Given the description of an element on the screen output the (x, y) to click on. 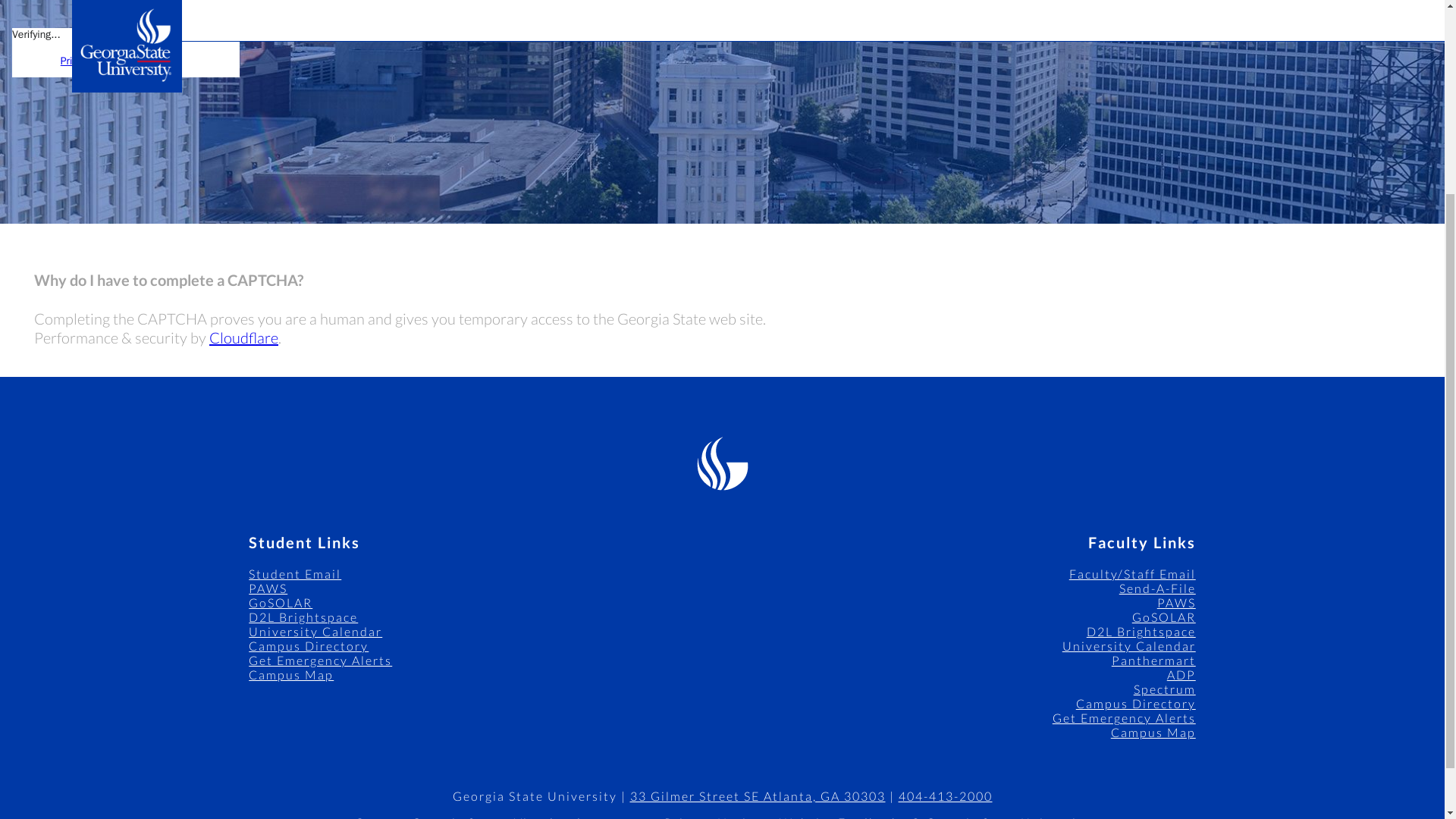
Send-A-File (1157, 587)
University Calendar (314, 631)
Campus Map (290, 674)
University Calendar (1128, 645)
Get Emergency Alerts (1123, 717)
D2L Brightspace (303, 616)
Student Email (294, 573)
GoSOLAR (1163, 616)
Campus Directory (1135, 703)
PAWS (267, 587)
